Given the description of an element on the screen output the (x, y) to click on. 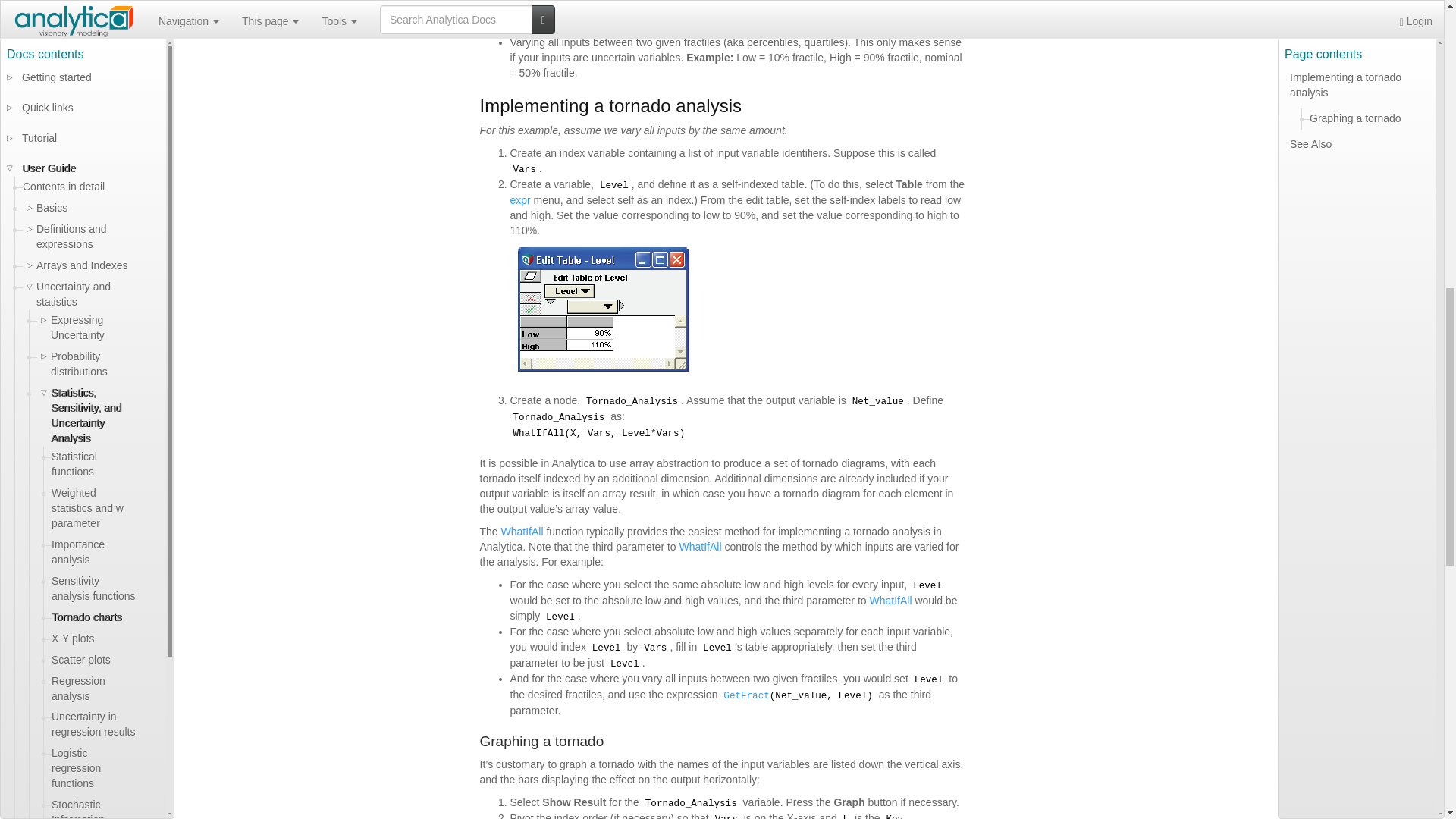
expr (519, 200)
WhatIfAll (890, 600)
Expr (519, 200)
WhatIfAll (521, 531)
WhatIfAll (700, 546)
GetFract (745, 696)
